Given the description of an element on the screen output the (x, y) to click on. 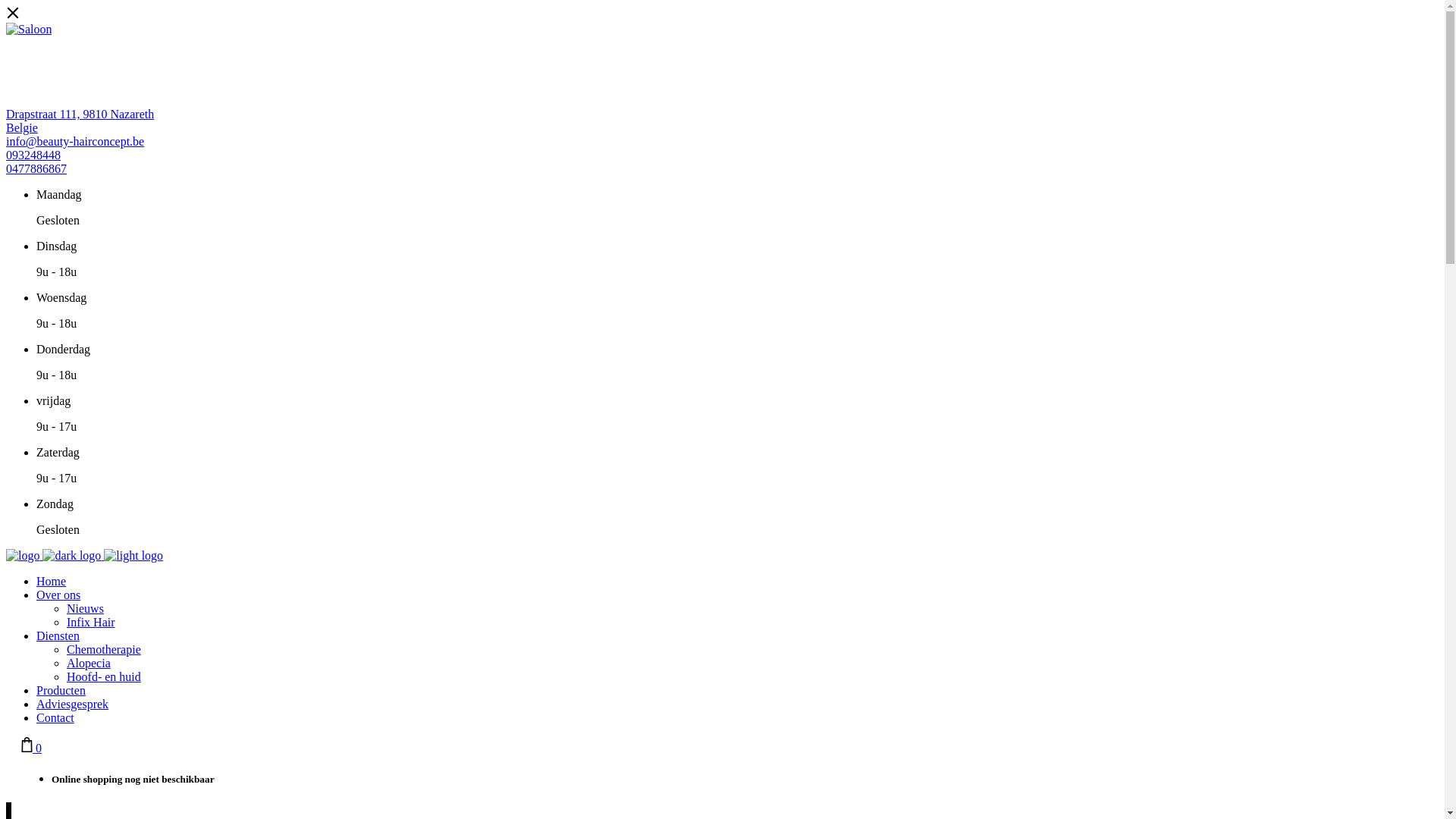
0 Element type: text (31, 747)
Hoofd- en huid Element type: text (103, 676)
Chemotherapie Element type: text (103, 649)
Alopecia Element type: text (88, 662)
info@beauty-hairconcept.be Element type: text (75, 140)
Over ons Element type: text (58, 594)
Drapstraat 111, 9810 Nazareth
Belgie Element type: text (79, 120)
Producten Element type: text (60, 690)
Adviesgesprek Element type: text (72, 703)
Nieuws Element type: text (84, 608)
Contact Element type: text (55, 717)
Home Element type: text (50, 580)
Infix Hair Element type: text (90, 621)
Saloon Element type: hover (28, 29)
093248448 Element type: text (33, 154)
Diensten Element type: text (57, 635)
0477886867 Element type: text (36, 168)
